Given the description of an element on the screen output the (x, y) to click on. 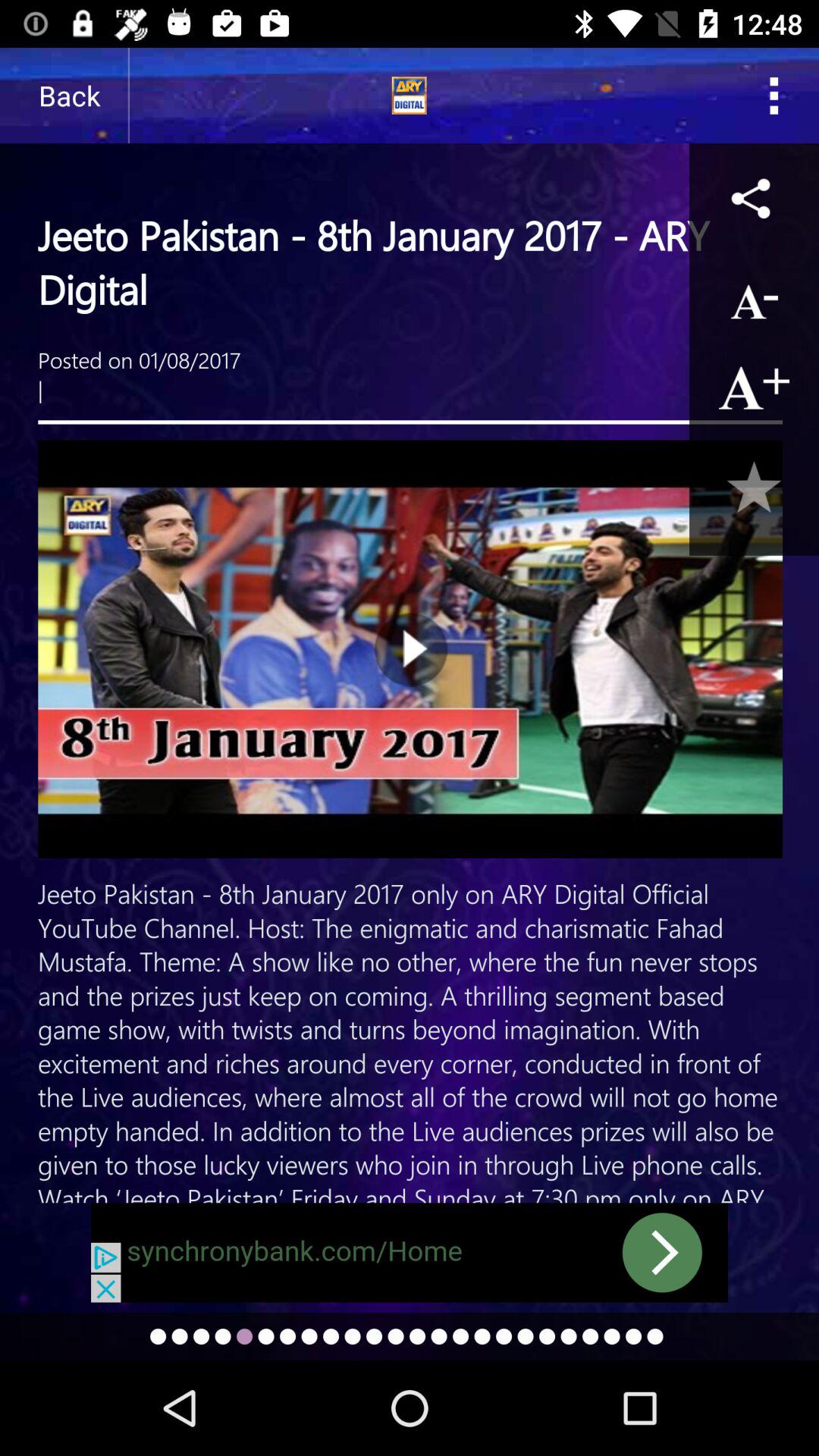
word zooming option (754, 387)
